Given the description of an element on the screen output the (x, y) to click on. 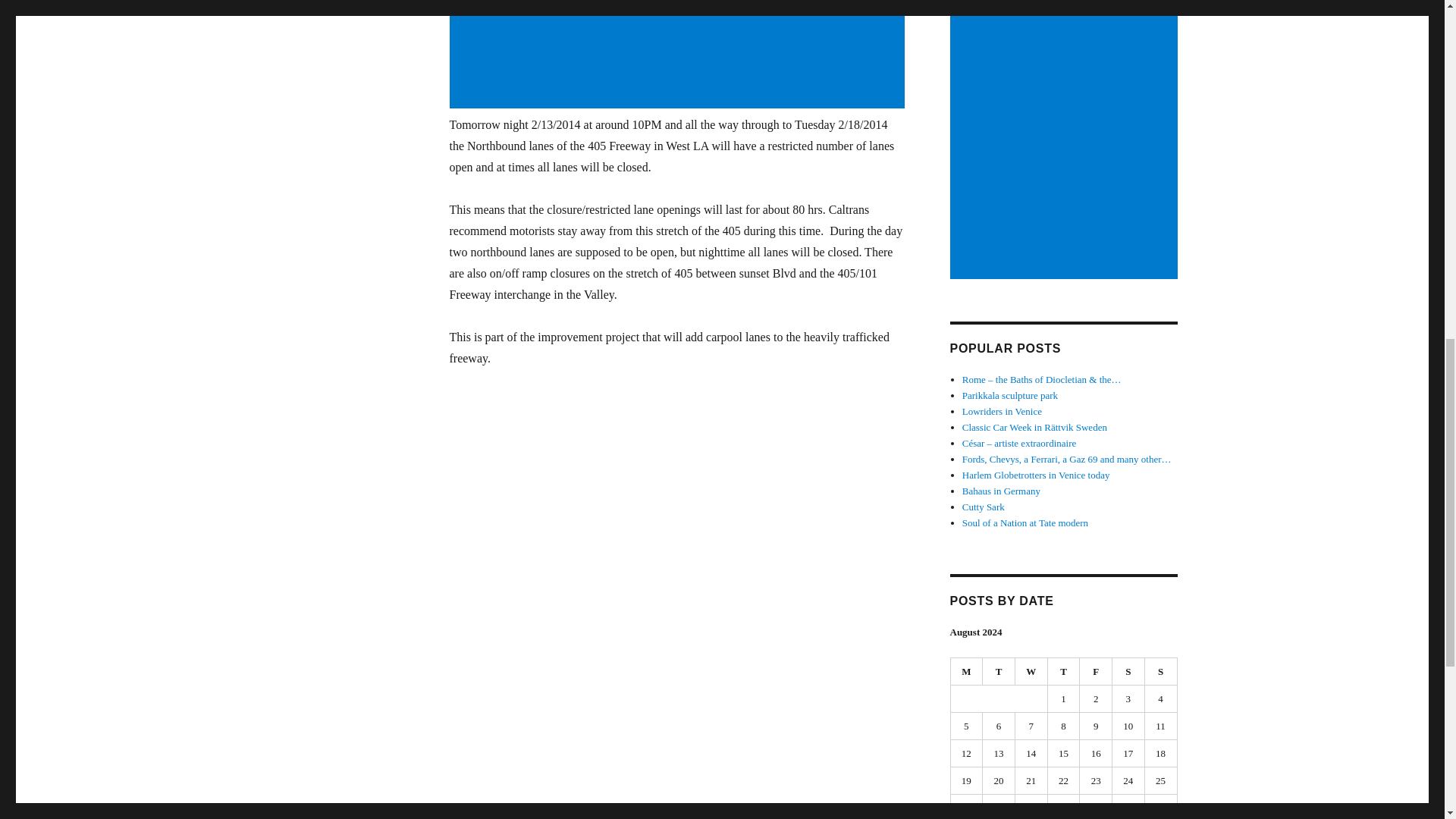
Lowriders in Venice (1002, 410)
Parikkala sculpture park (1010, 395)
Cutty Sark (983, 506)
Tuesday (998, 671)
Thursday (1064, 671)
Harlem Globetrotters in Venice today (1035, 474)
Wednesday (1031, 671)
Monday (967, 671)
Saturday (1128, 671)
Soul of a Nation at Tate modern (1024, 522)
